Given the description of an element on the screen output the (x, y) to click on. 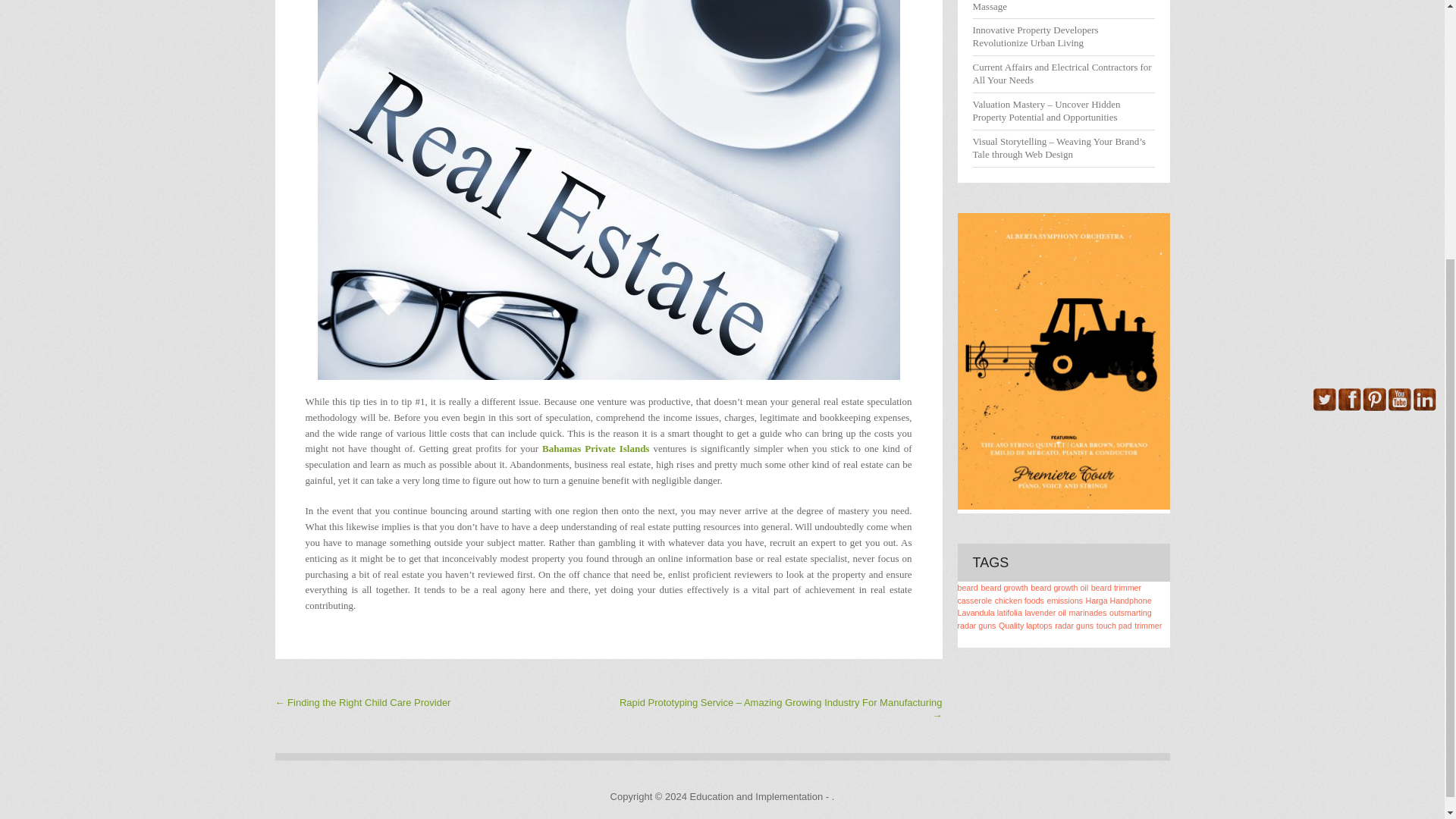
Elevate Your Experience Journey with Trip Massage (1057, 6)
emissions (1064, 600)
Visit Us On Youtube (1399, 408)
Quality laptops (1025, 624)
casserole (973, 600)
Visit Us On Facebook (1348, 408)
beard growth (1003, 587)
Bahamas Private Islands (595, 448)
beard (966, 587)
Innovative Property Developers Revolutionize Urban Living (1034, 36)
